Given the description of an element on the screen output the (x, y) to click on. 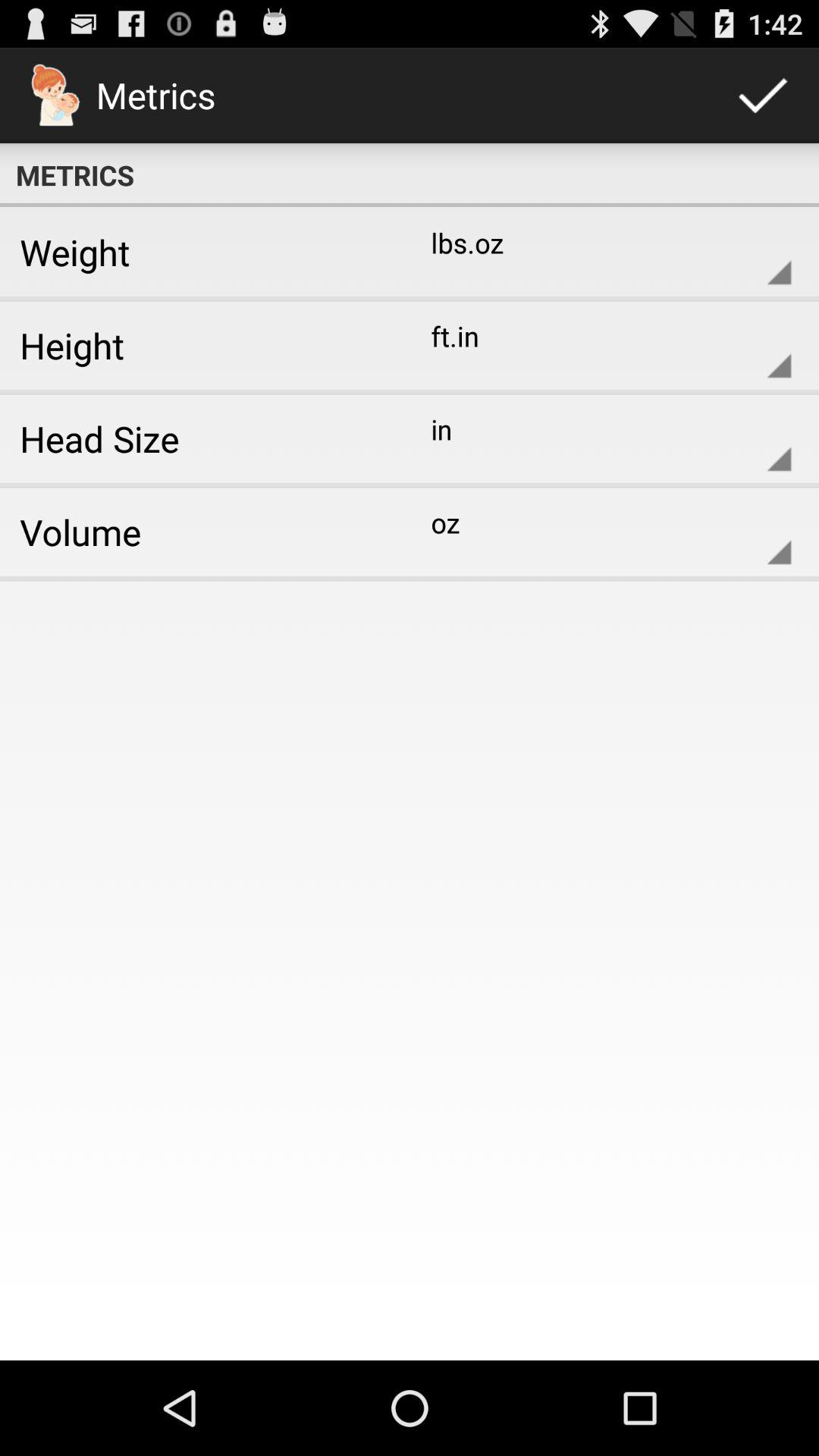
launch app below metrics icon (199, 252)
